Given the description of an element on the screen output the (x, y) to click on. 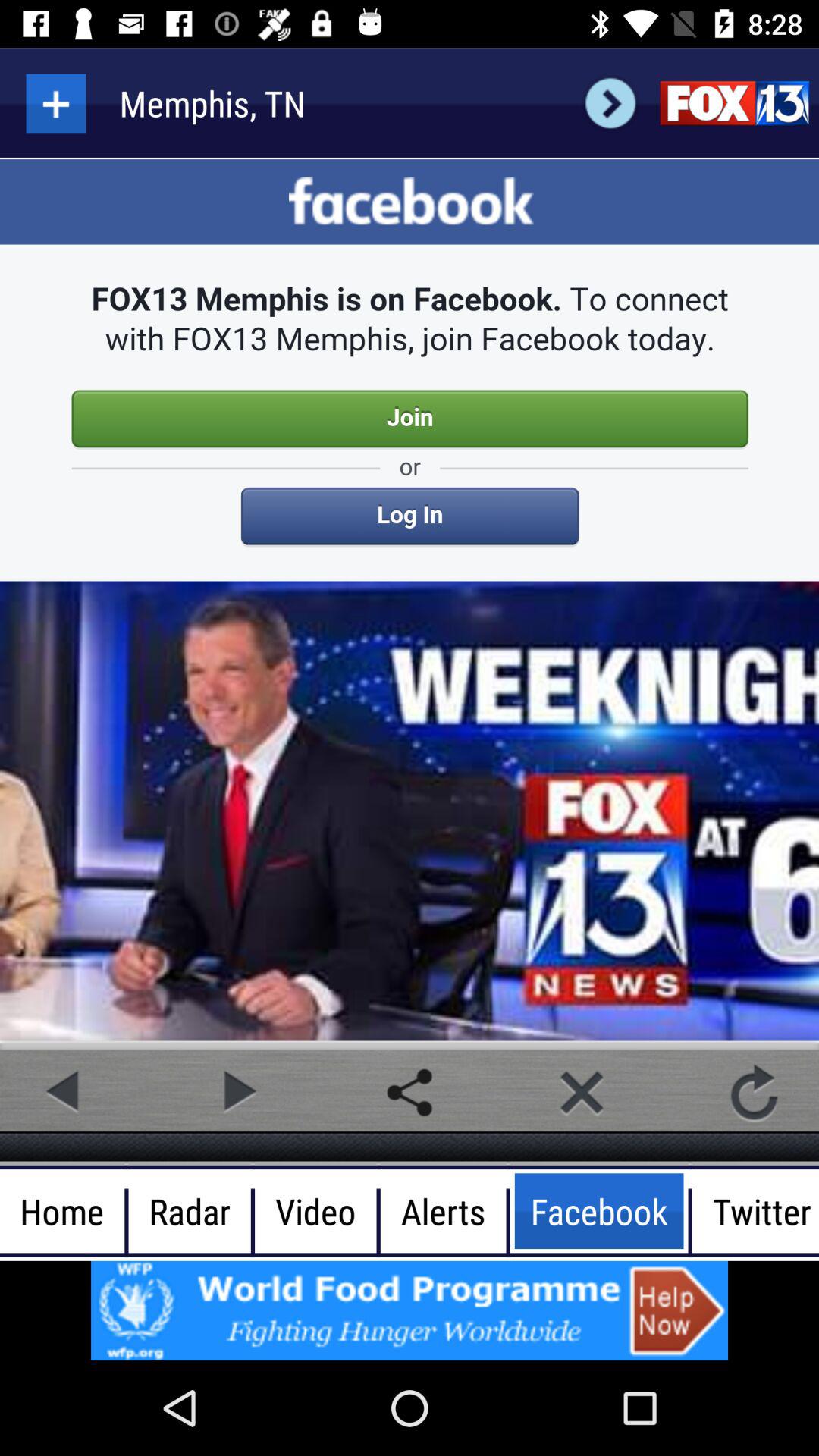
click to undo option (754, 1092)
